Given the description of an element on the screen output the (x, y) to click on. 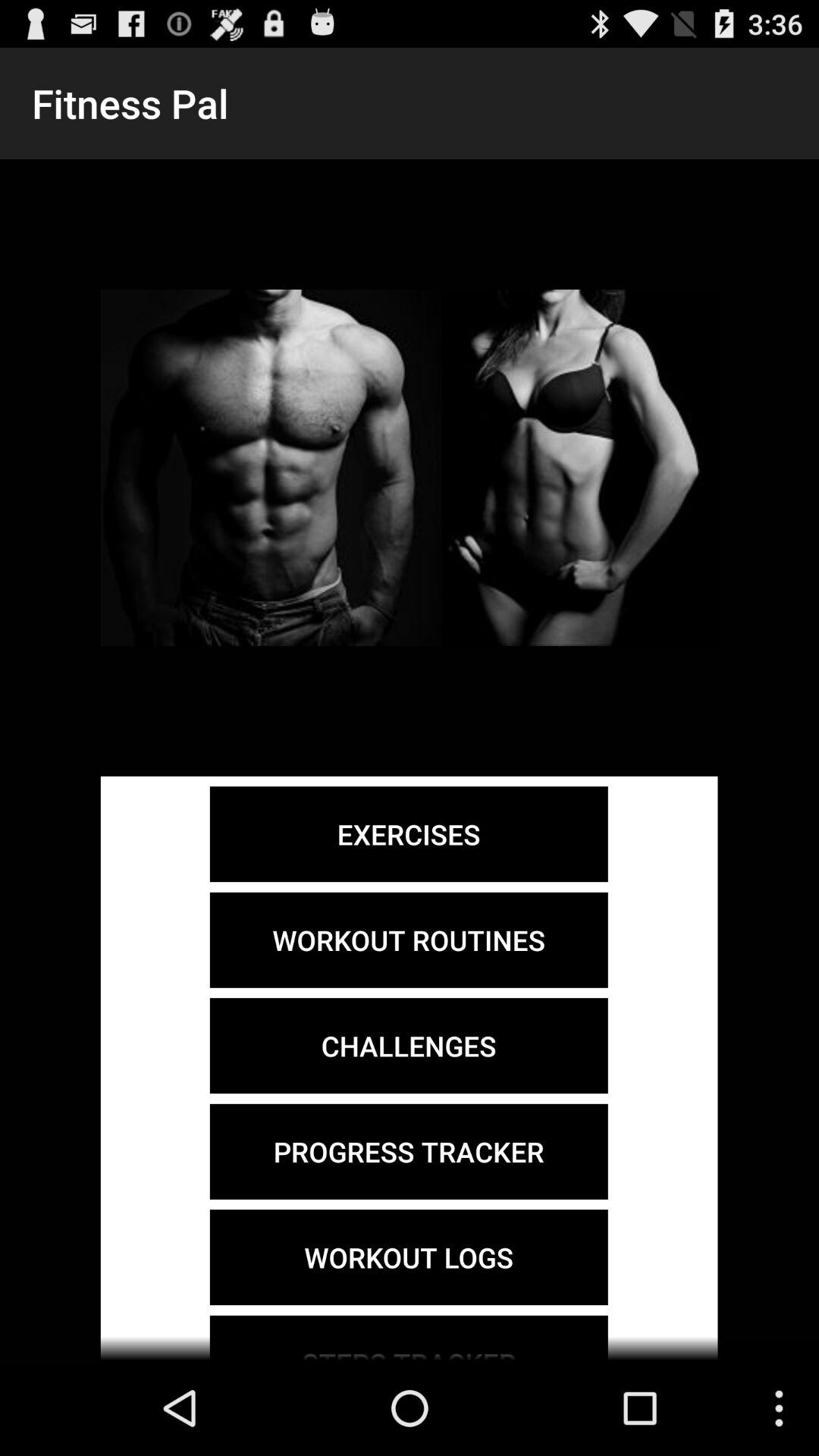
tap workout routines item (408, 939)
